Given the description of an element on the screen output the (x, y) to click on. 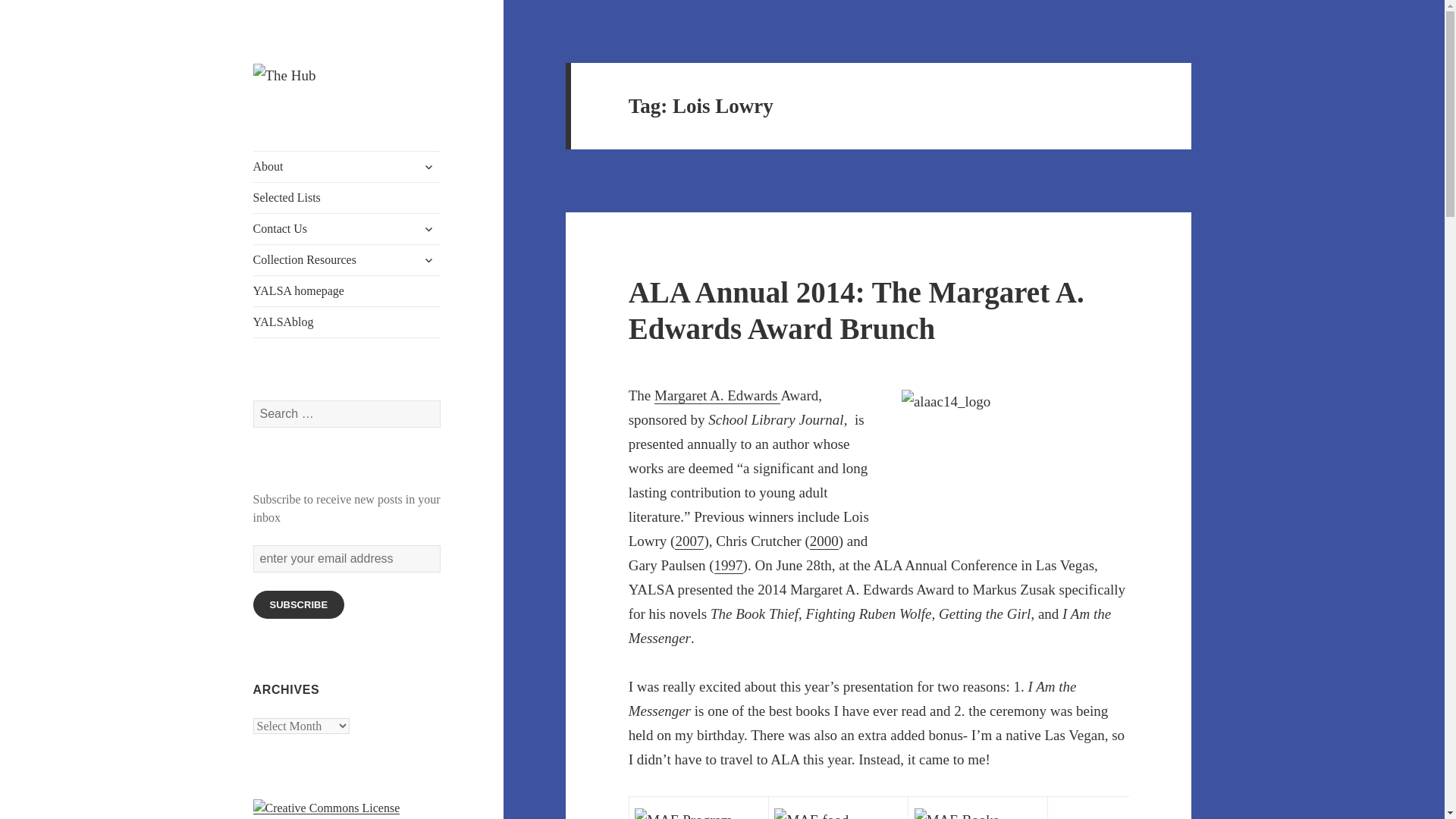
Selected Lists (347, 197)
expand child menu (428, 259)
YALSAblog (347, 322)
ALA Annual 2014: The Margaret A. Edwards Award Brunch (856, 310)
Margaret A. Edwards (716, 395)
Contact Us (347, 228)
expand child menu (428, 228)
Collection Resources (347, 259)
The Hub (293, 111)
